Given the description of an element on the screen output the (x, y) to click on. 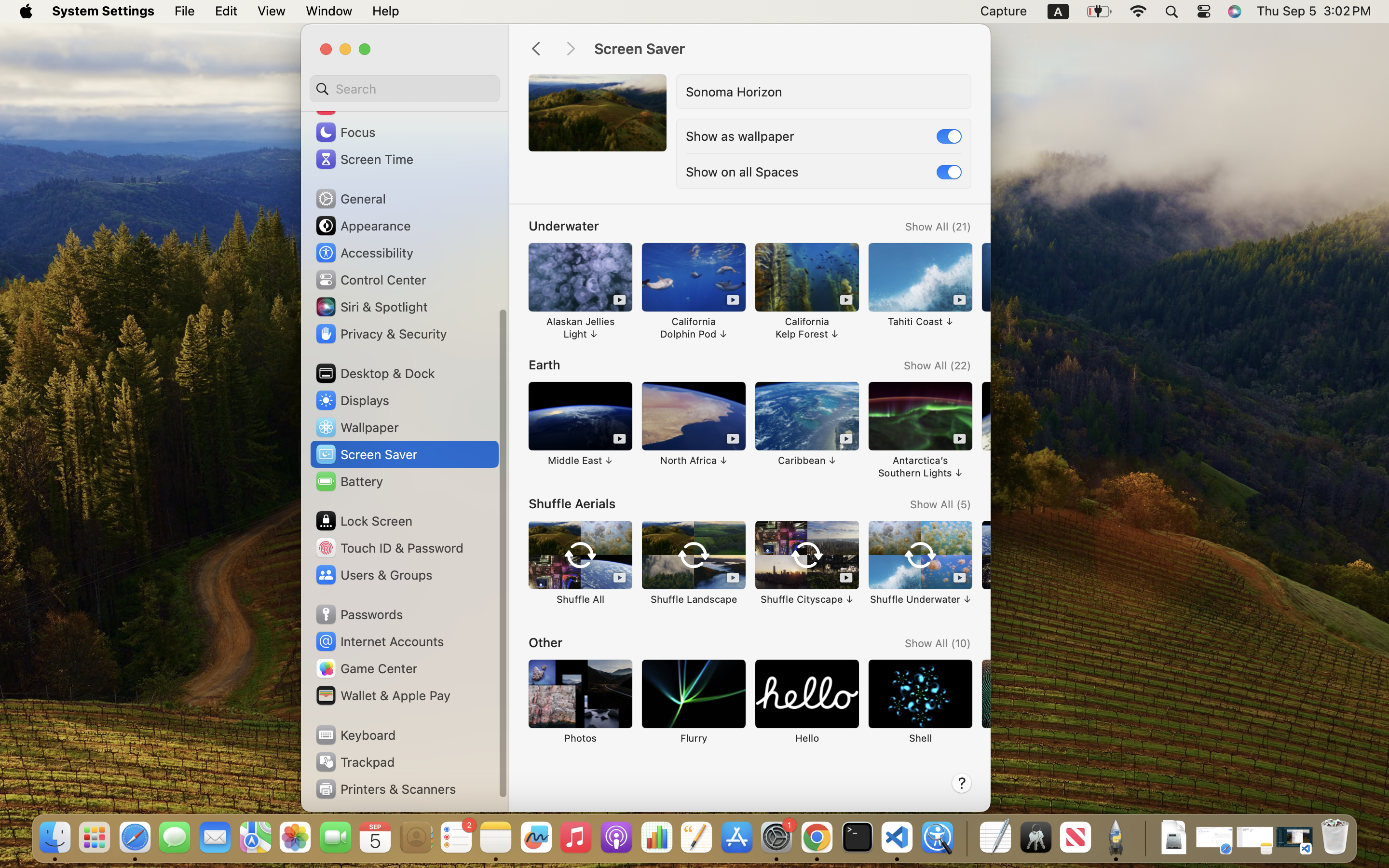
Touch ID & Password Element type: AXStaticText (388, 547)
Keyboard Element type: AXStaticText (354, 734)
Internet Accounts Element type: AXStaticText (378, 640)
Privacy & Security Element type: AXStaticText (380, 333)
Displays Element type: AXStaticText (351, 399)
